Given the description of an element on the screen output the (x, y) to click on. 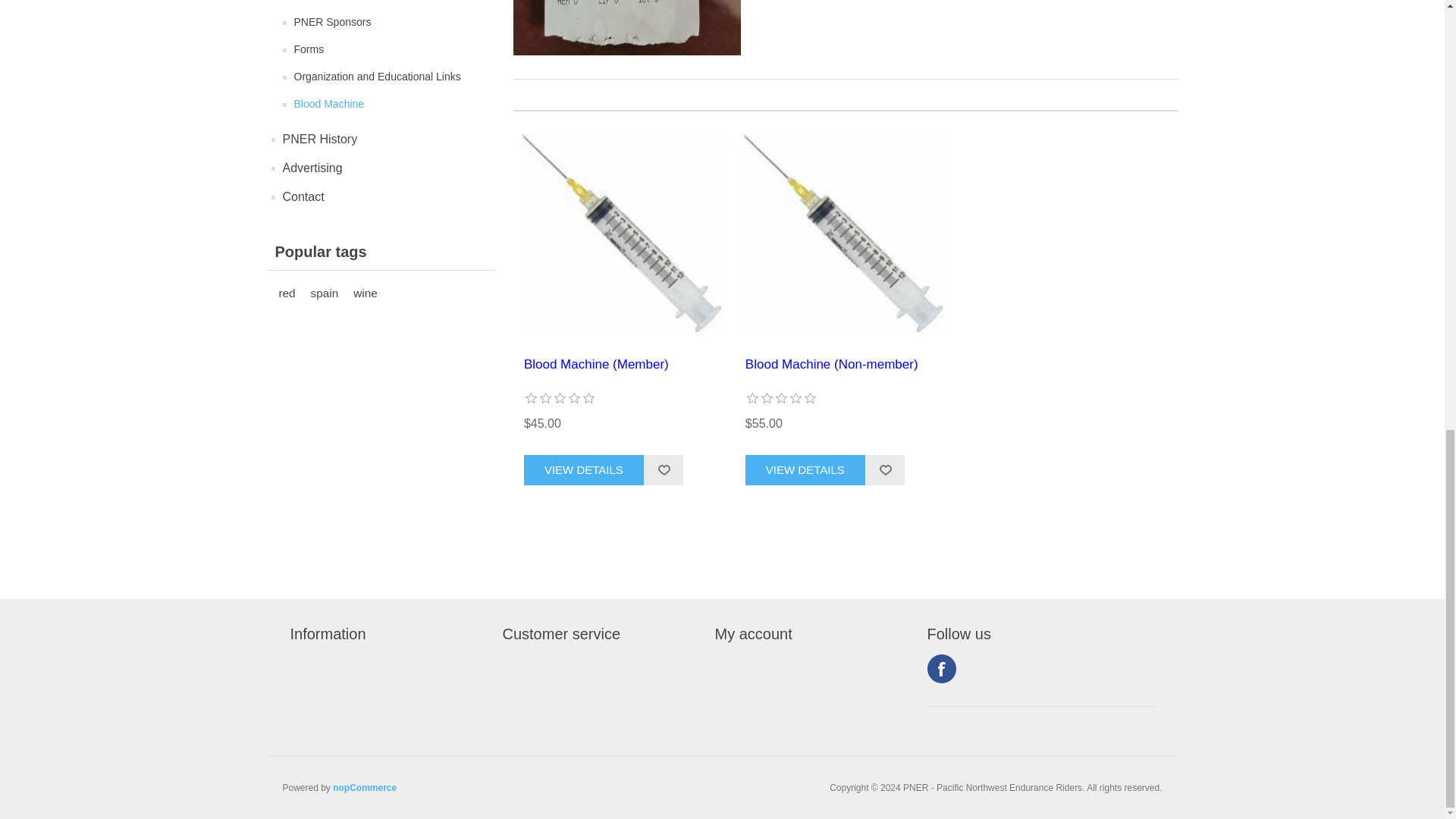
Add to wishlist (884, 470)
View Details (804, 470)
Add to wishlist (663, 470)
Add to wishlist (884, 470)
View Details (583, 470)
Add to wishlist (663, 470)
